Given the description of an element on the screen output the (x, y) to click on. 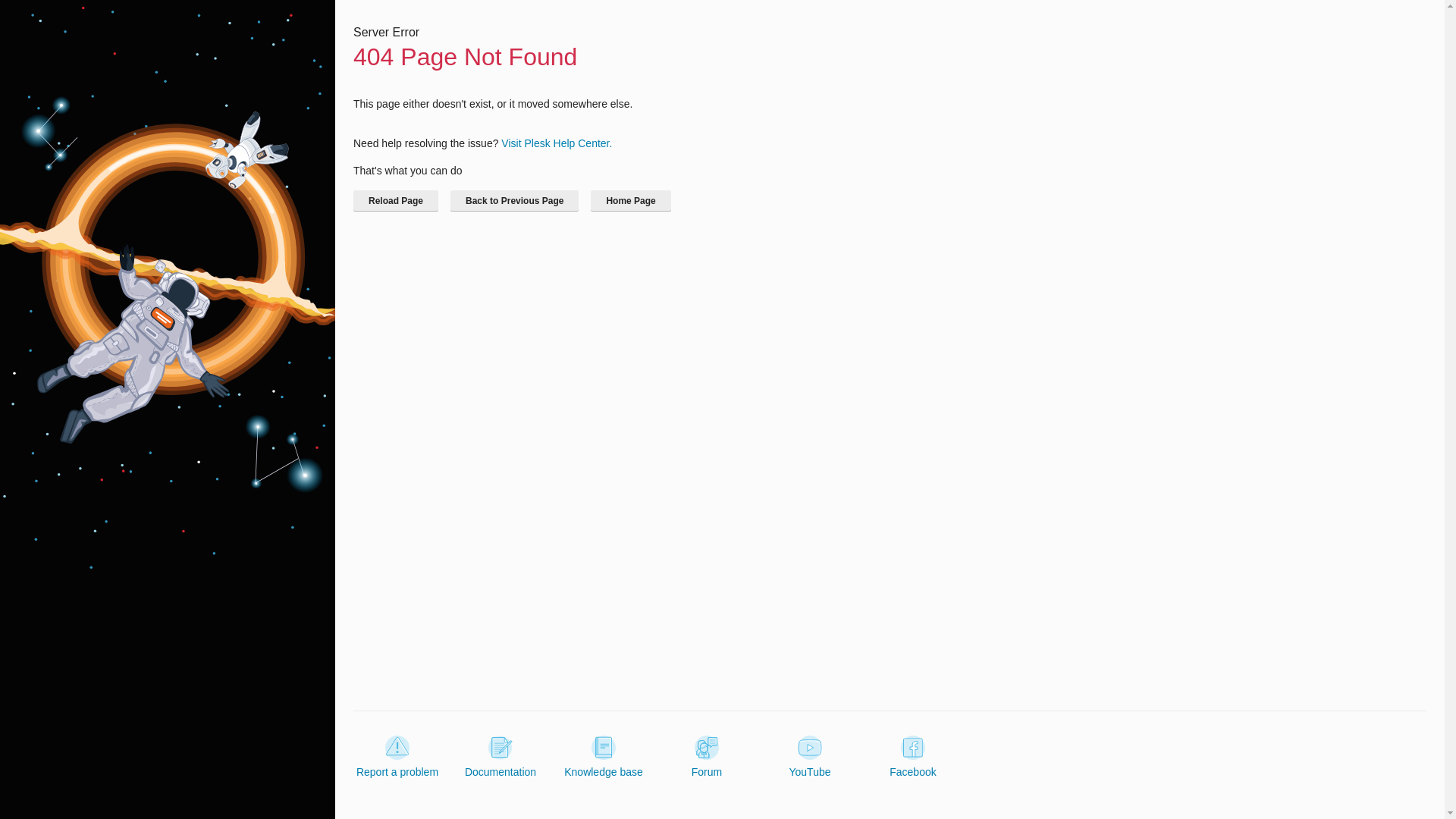
Visit Plesk Help Center. (555, 143)
Facebook (912, 757)
Home Page (630, 200)
Knowledge base (603, 757)
Forum (706, 757)
YouTube (809, 757)
Back to Previous Page (513, 200)
Documentation (500, 757)
Reload Page (395, 200)
Report a problem (397, 757)
